Given the description of an element on the screen output the (x, y) to click on. 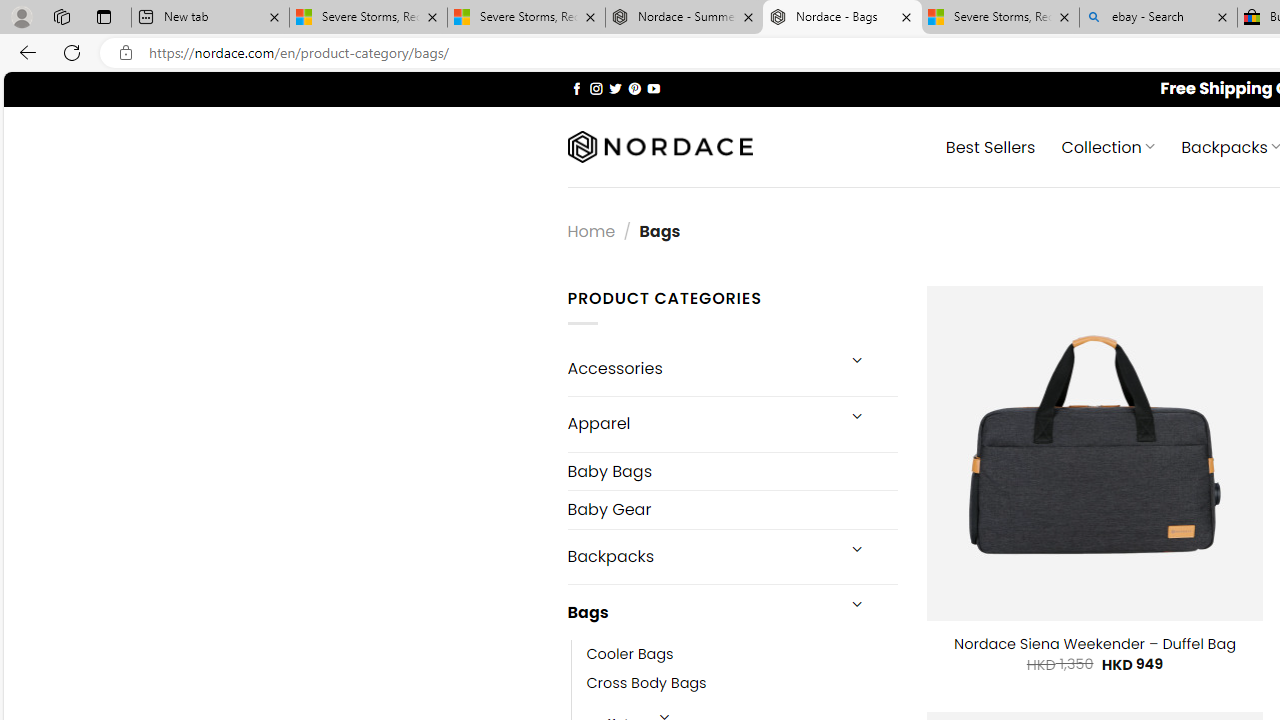
 Best Sellers (989, 146)
Baby Bags (732, 471)
Baby Bags (732, 470)
Backpacks (700, 556)
Accessories (700, 368)
Cooler Bags (742, 655)
